Given the description of an element on the screen output the (x, y) to click on. 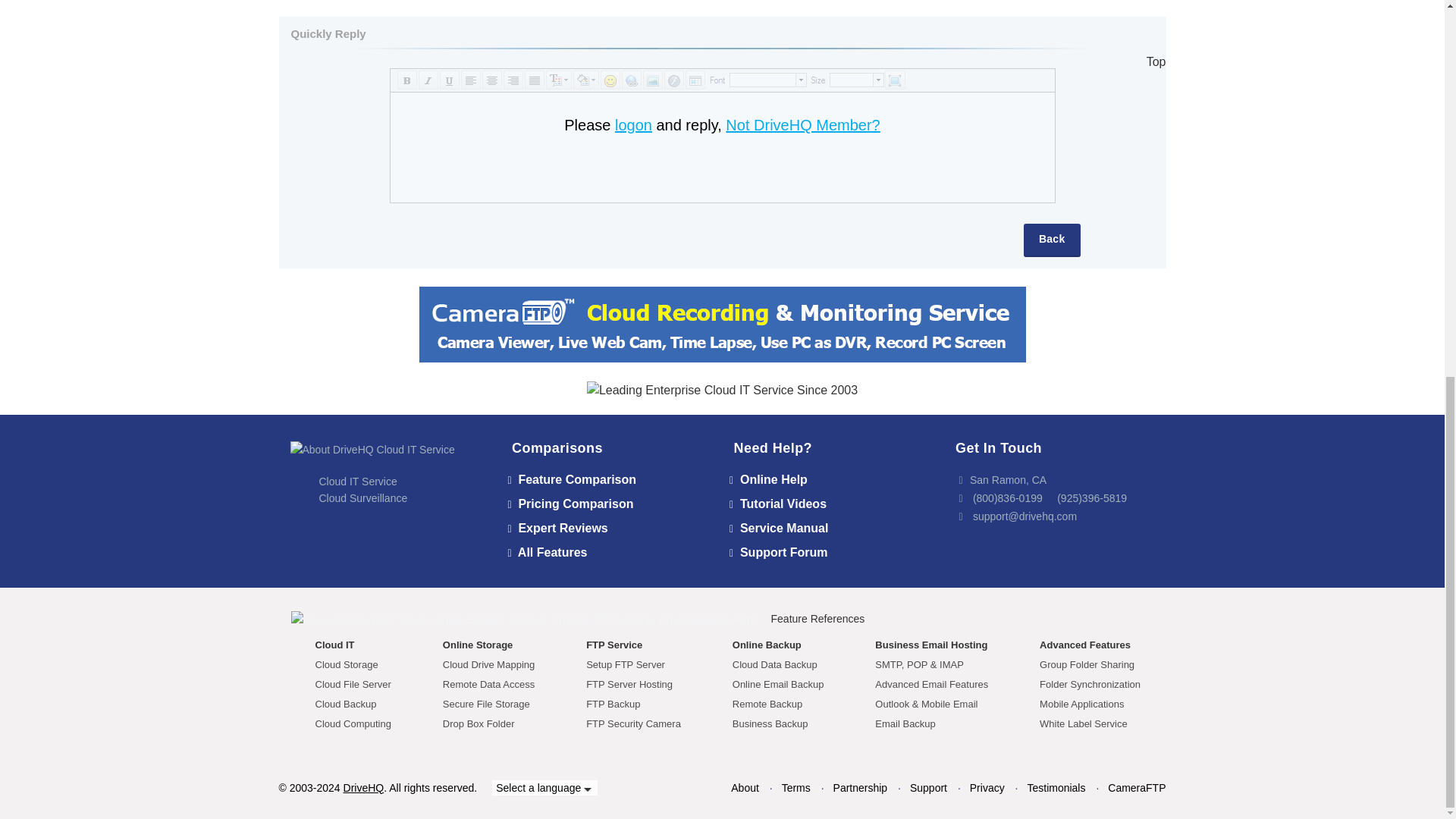
Back (1051, 240)
